Given the description of an element on the screen output the (x, y) to click on. 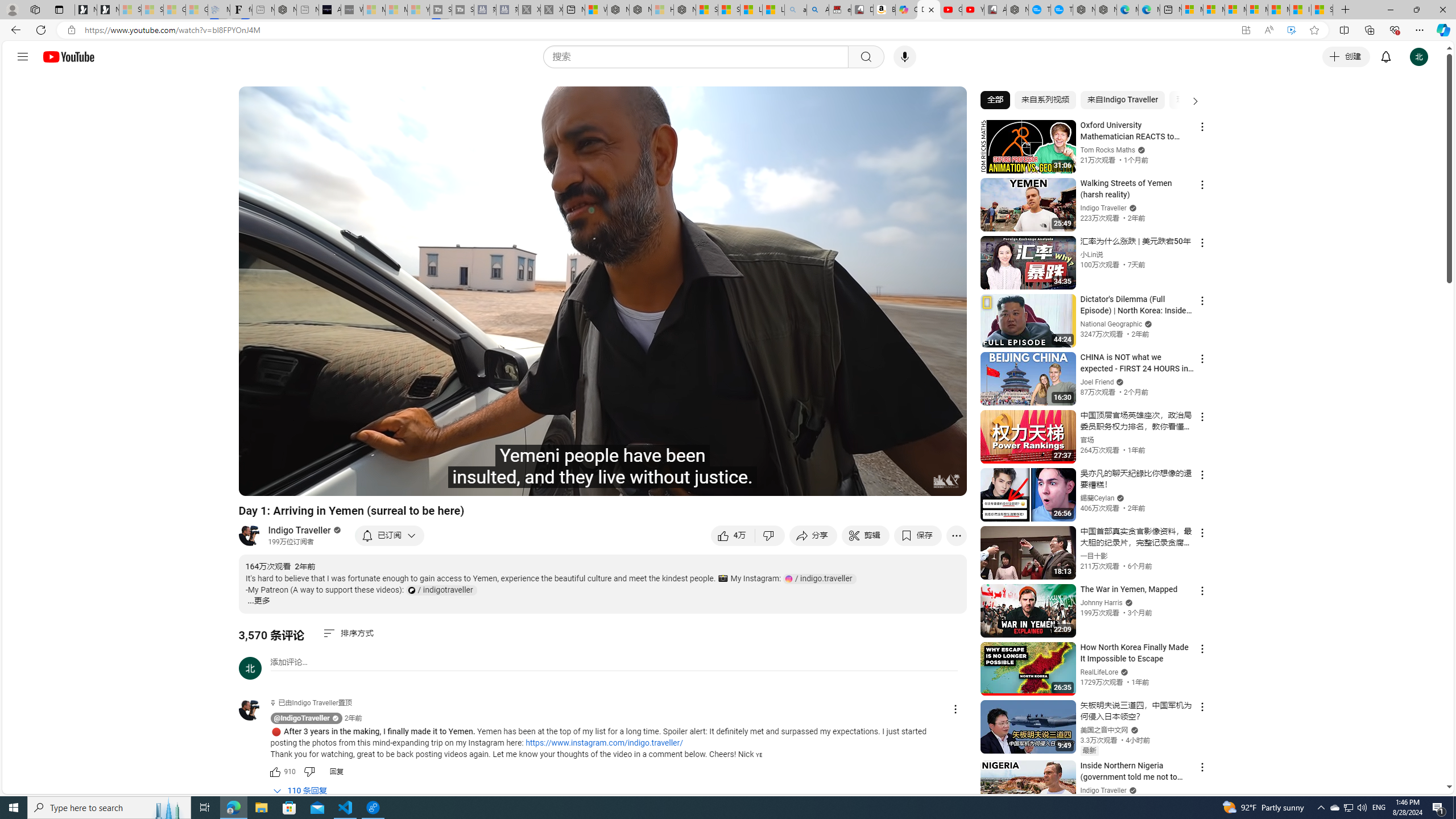
Gloom - YouTube (950, 9)
New tab - Sleeping (307, 9)
AI Voice Changer for PC and Mac - Voice.ai (330, 9)
